Given the description of an element on the screen output the (x, y) to click on. 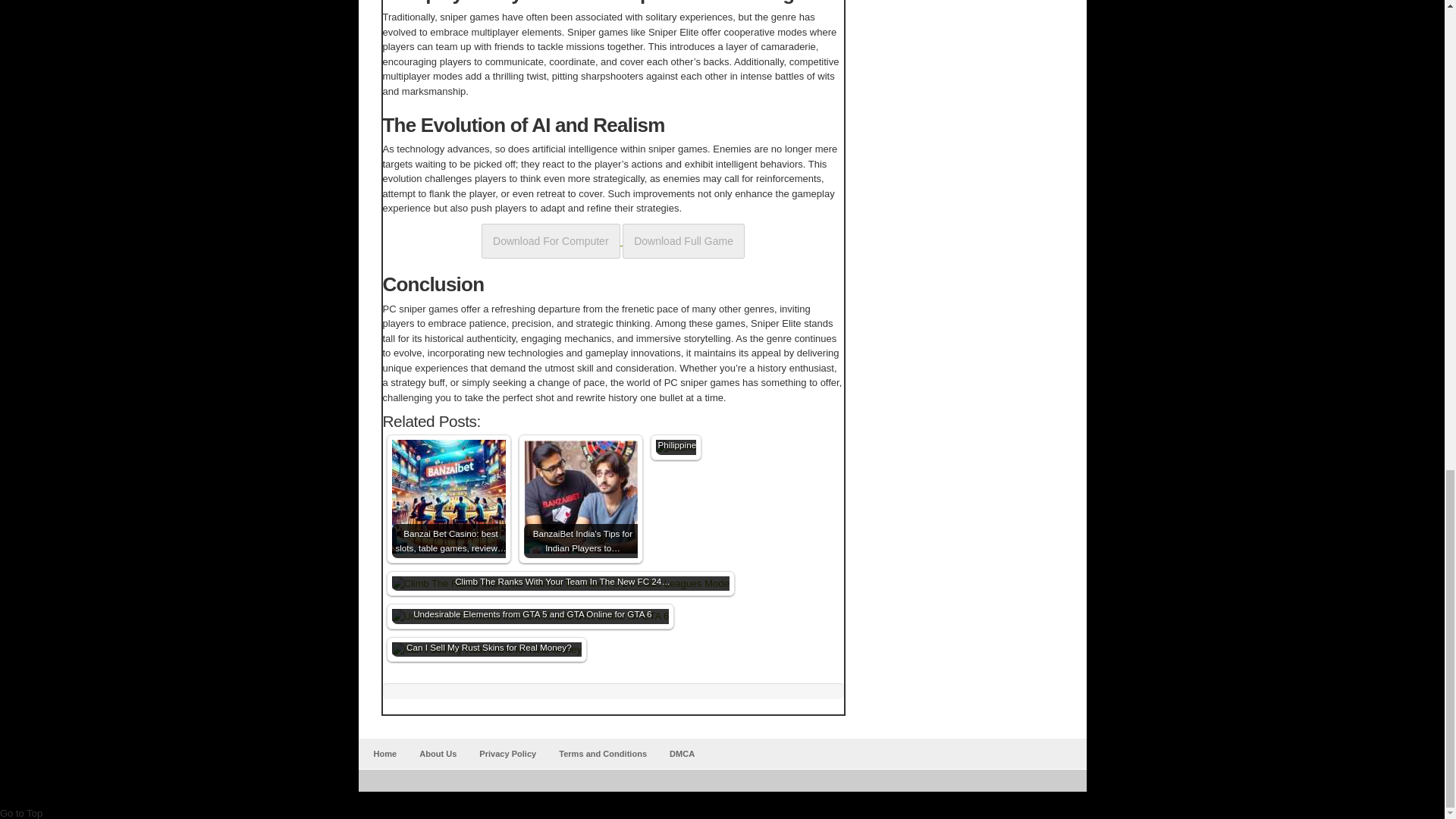
Undesirable Elements from GTA 5 and GTA Online for GTA 6 (529, 616)
Download For Computer Download Full Game (612, 240)
Download For Computer (550, 239)
Can I Sell My Rust Skins for Real Money? (485, 648)
Download Full Game (683, 239)
Undesirable Elements from GTA 5 and GTA Online for GTA 6 (529, 616)
Can I Sell My Rust Skins for Real Money? (485, 648)
